Given the description of an element on the screen output the (x, y) to click on. 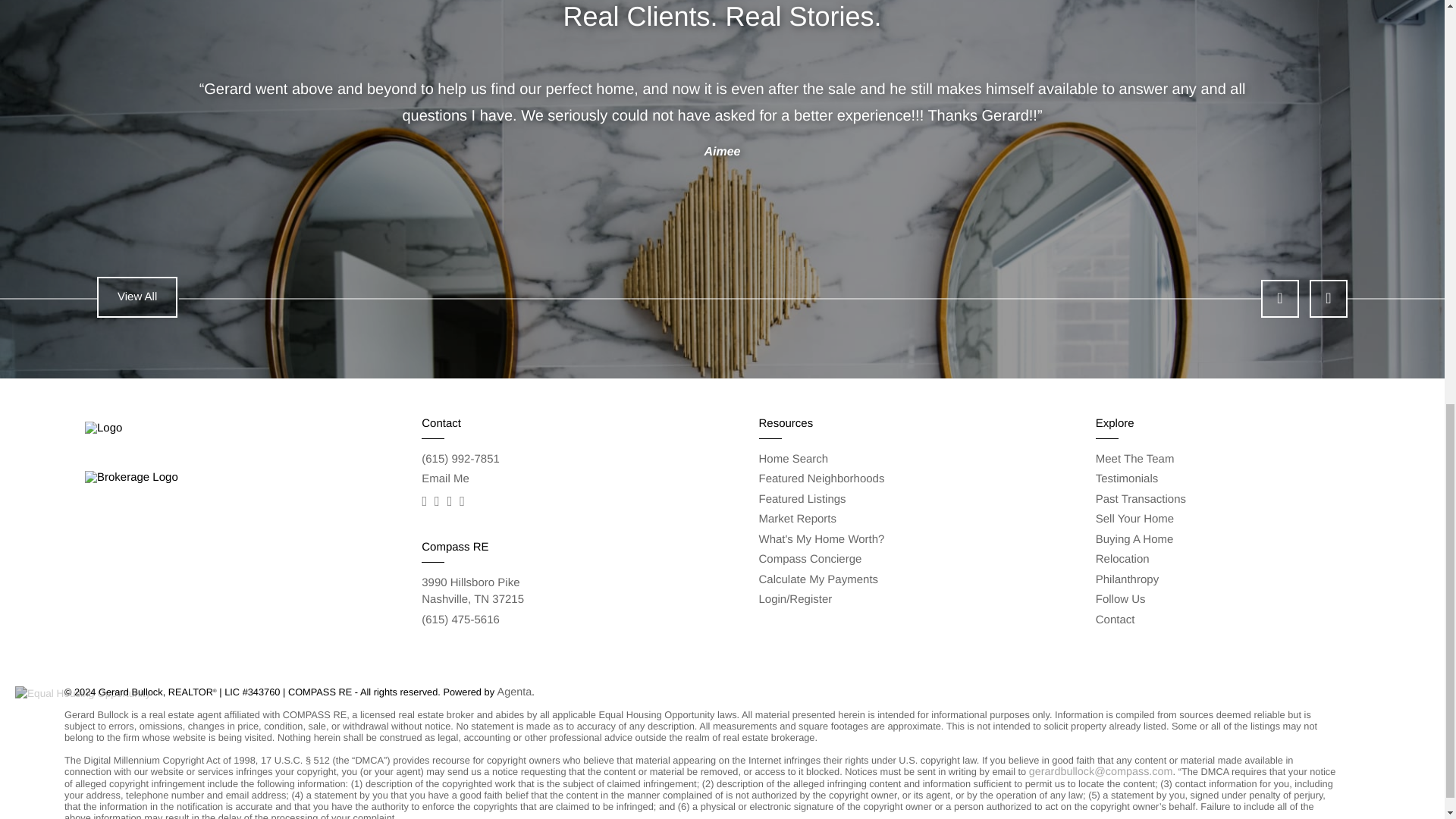
Logo (171, 427)
Equal Housing Opportunity (473, 591)
Email Me (81, 693)
Brokerage Logo (445, 479)
View All (171, 477)
